Given the description of an element on the screen output the (x, y) to click on. 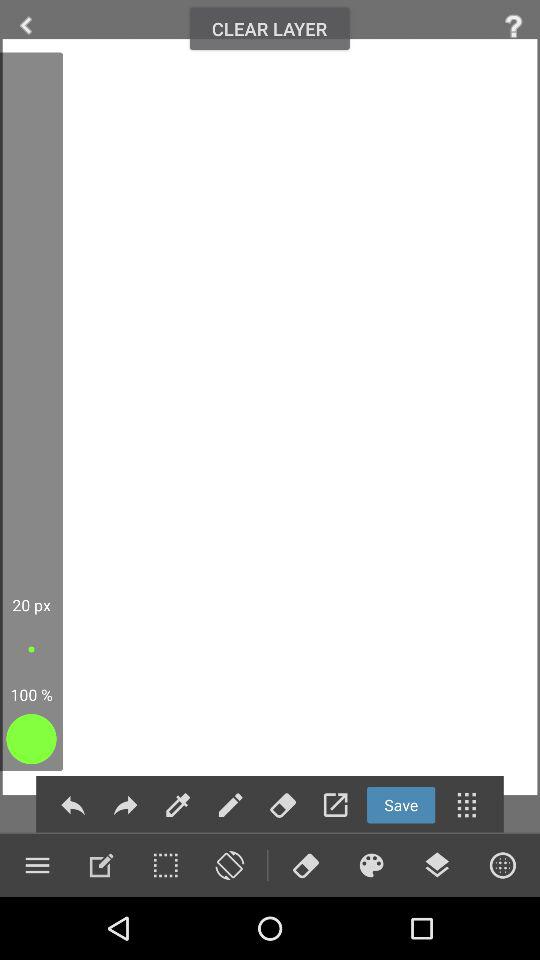
show color options (371, 865)
